Given the description of an element on the screen output the (x, y) to click on. 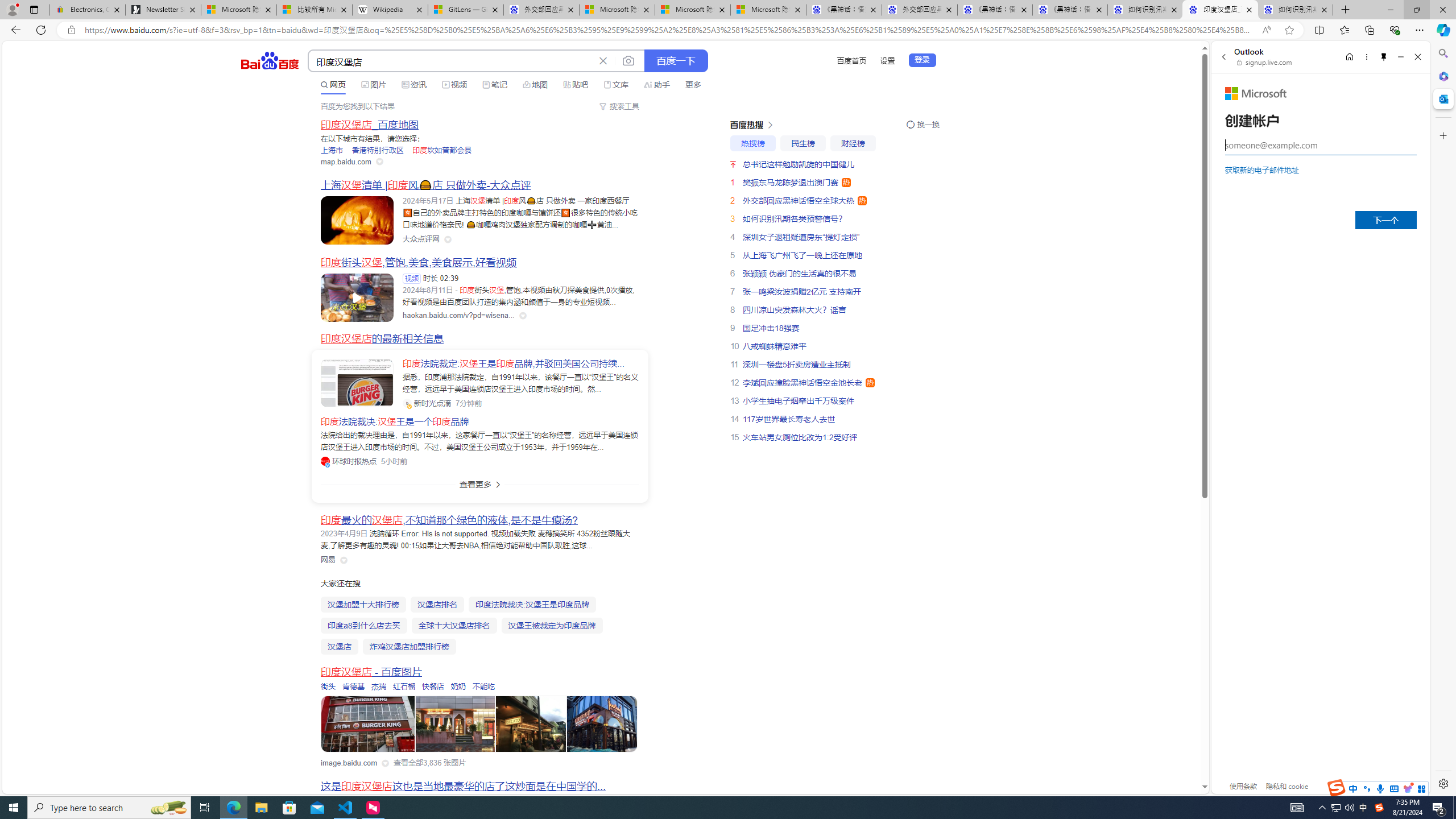
Wikipedia (389, 9)
Class: siteLink_9TPP3 (327, 560)
Unpin side pane (1383, 56)
